Given the description of an element on the screen output the (x, y) to click on. 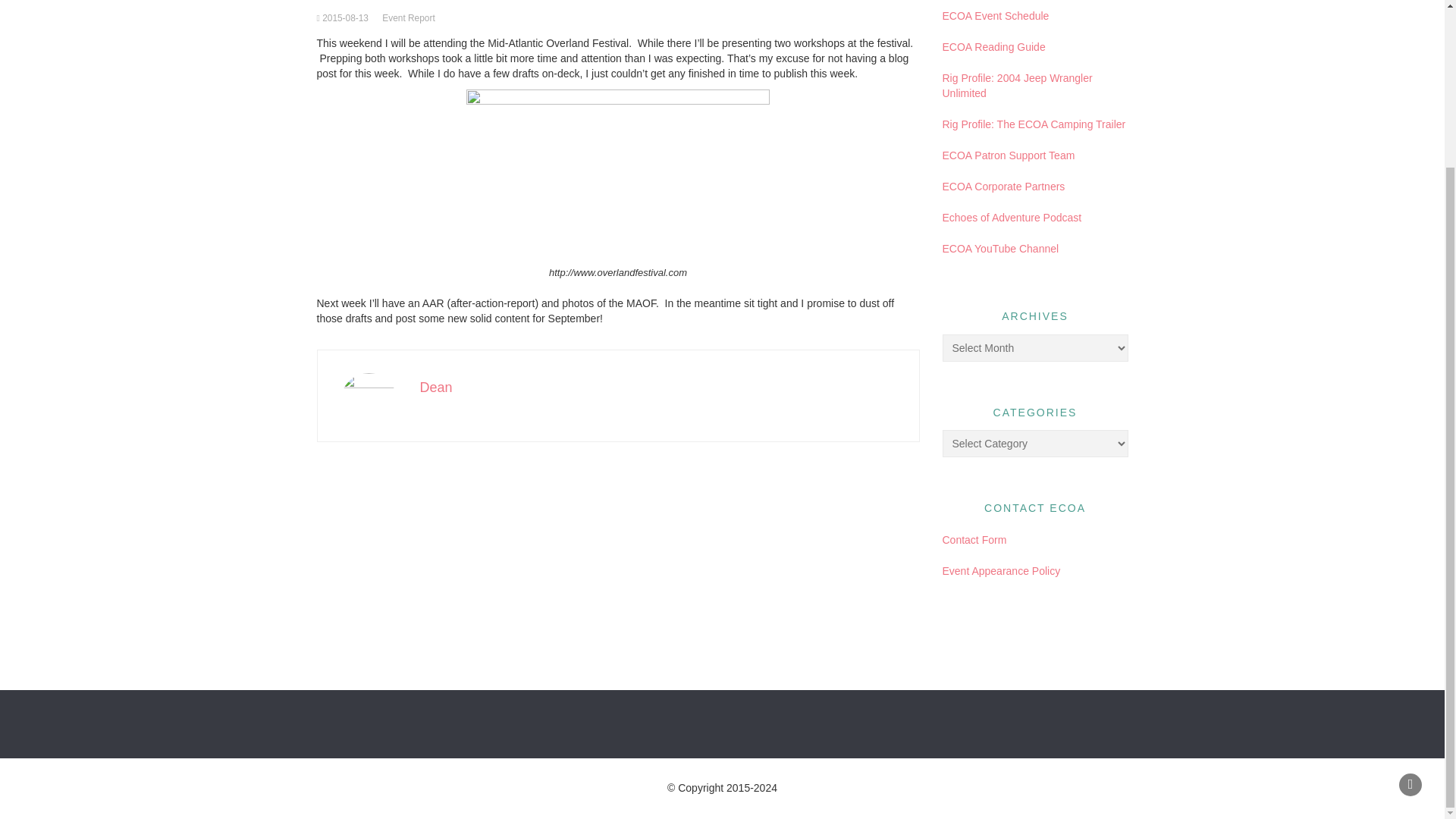
ECOA Event Schedule (995, 15)
ECOA Corporate Partners (1003, 186)
Event Appearance Policy (1000, 571)
ECOA Patron Support Team (1008, 155)
2015-08-13 (344, 18)
Rig Profile: The ECOA Camping Trailer (1033, 123)
Dean (436, 386)
ECOA YouTube Channel (1000, 248)
Echoes of Adventure Podcast (1011, 217)
Rig Profile: 2004 Jeep Wrangler Unlimited (1017, 85)
